Given the description of an element on the screen output the (x, y) to click on. 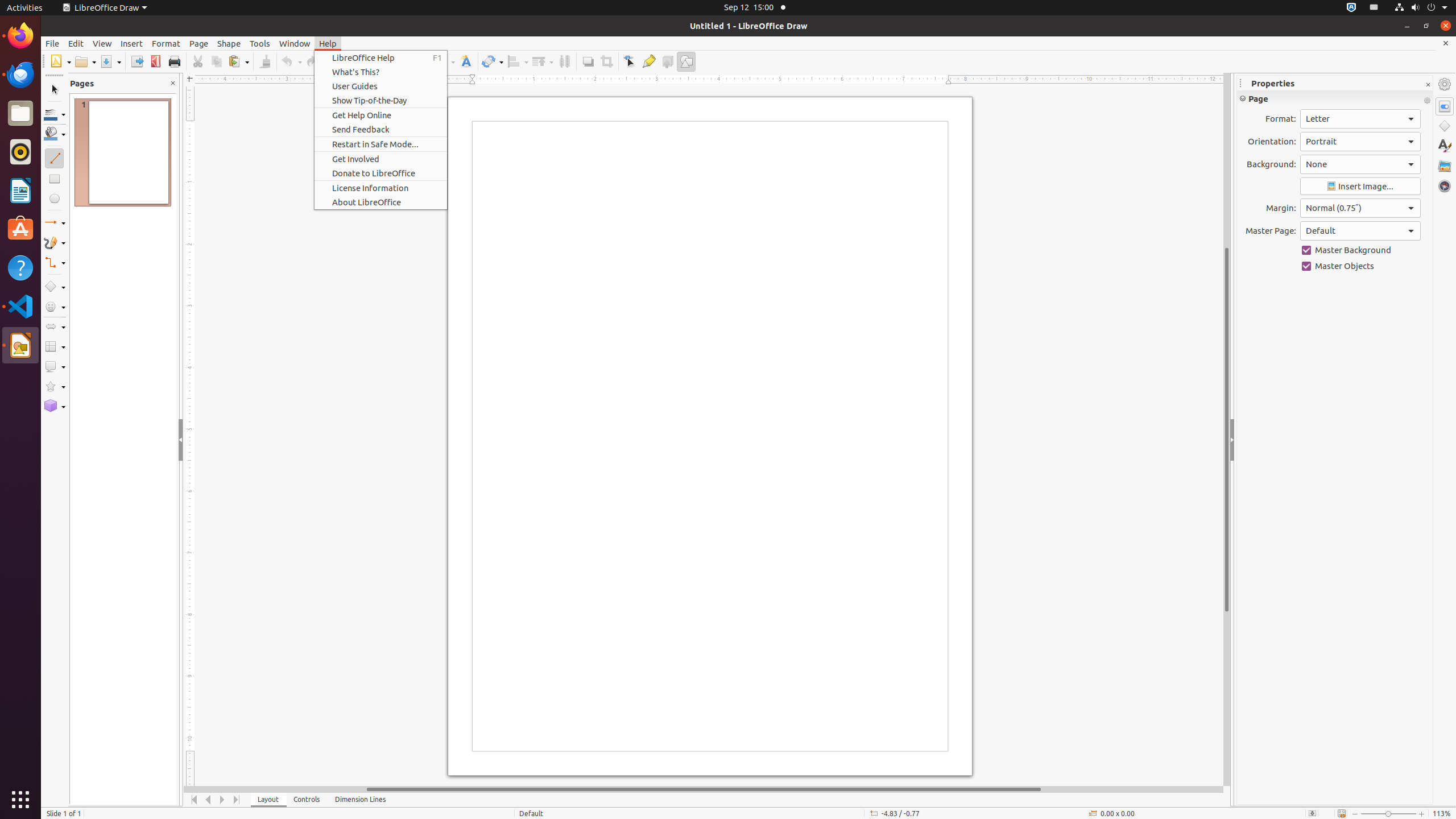
License Information Element type: menu-item (380, 187)
Save Element type: push-button (109, 61)
Close Pane Element type: push-button (172, 82)
Toggle Extrusion Element type: push-button (667, 61)
Crop Element type: push-button (606, 61)
